Given the description of an element on the screen output the (x, y) to click on. 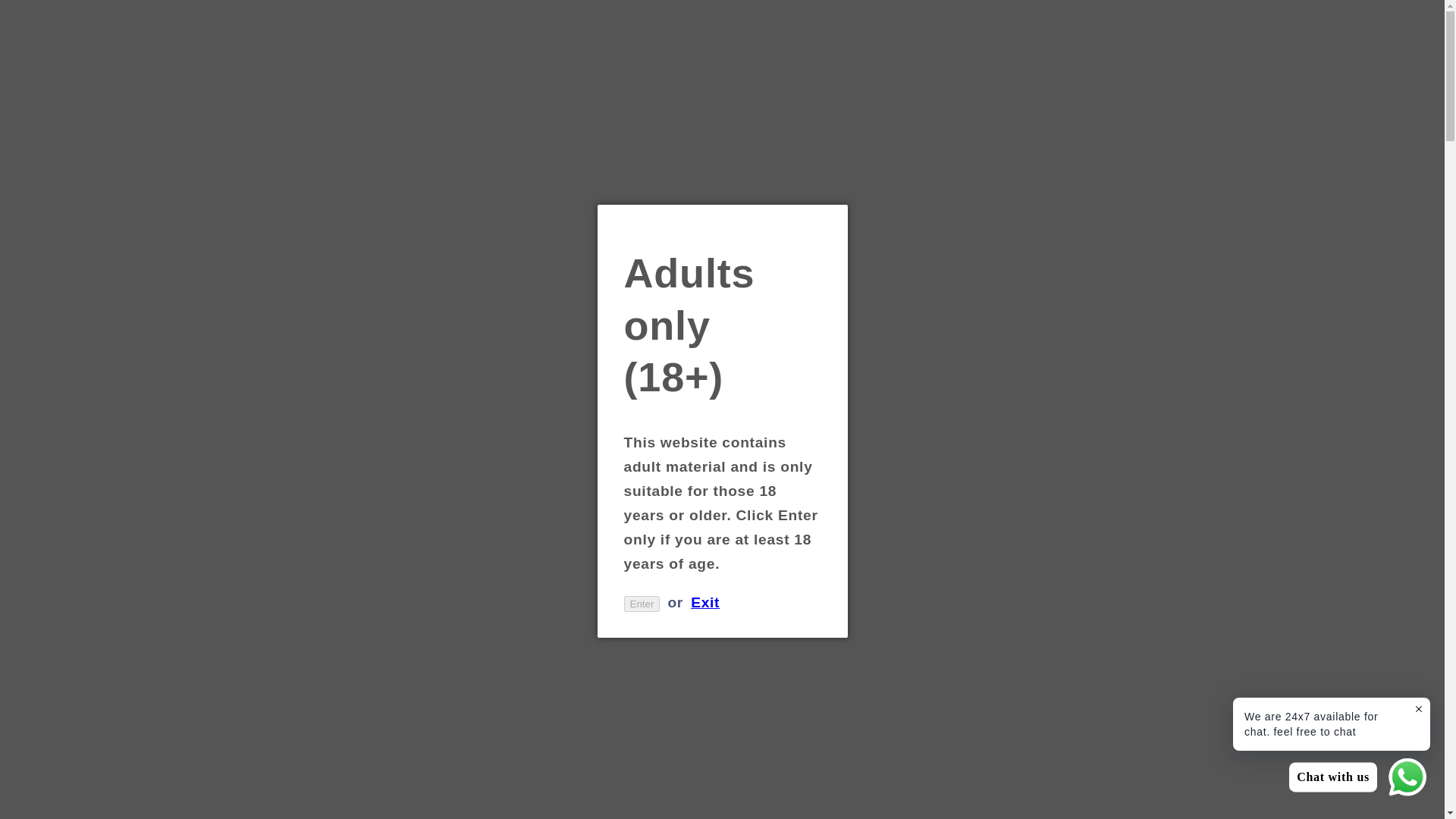
Skip to content (55, 20)
Enter (641, 603)
Exit (704, 602)
1 (771, 419)
